Given the description of an element on the screen output the (x, y) to click on. 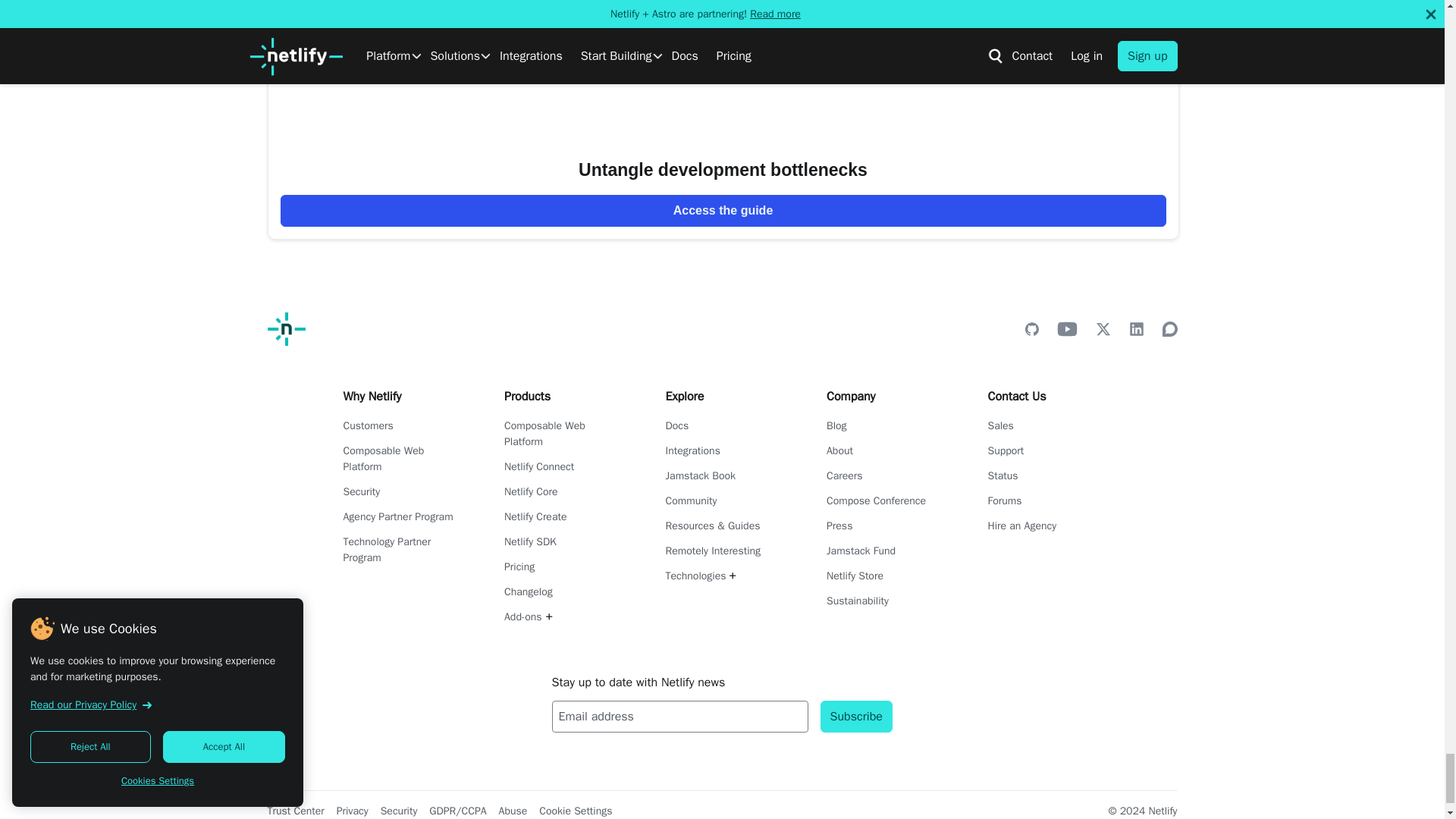
Subscribe (856, 716)
